Given the description of an element on the screen output the (x, y) to click on. 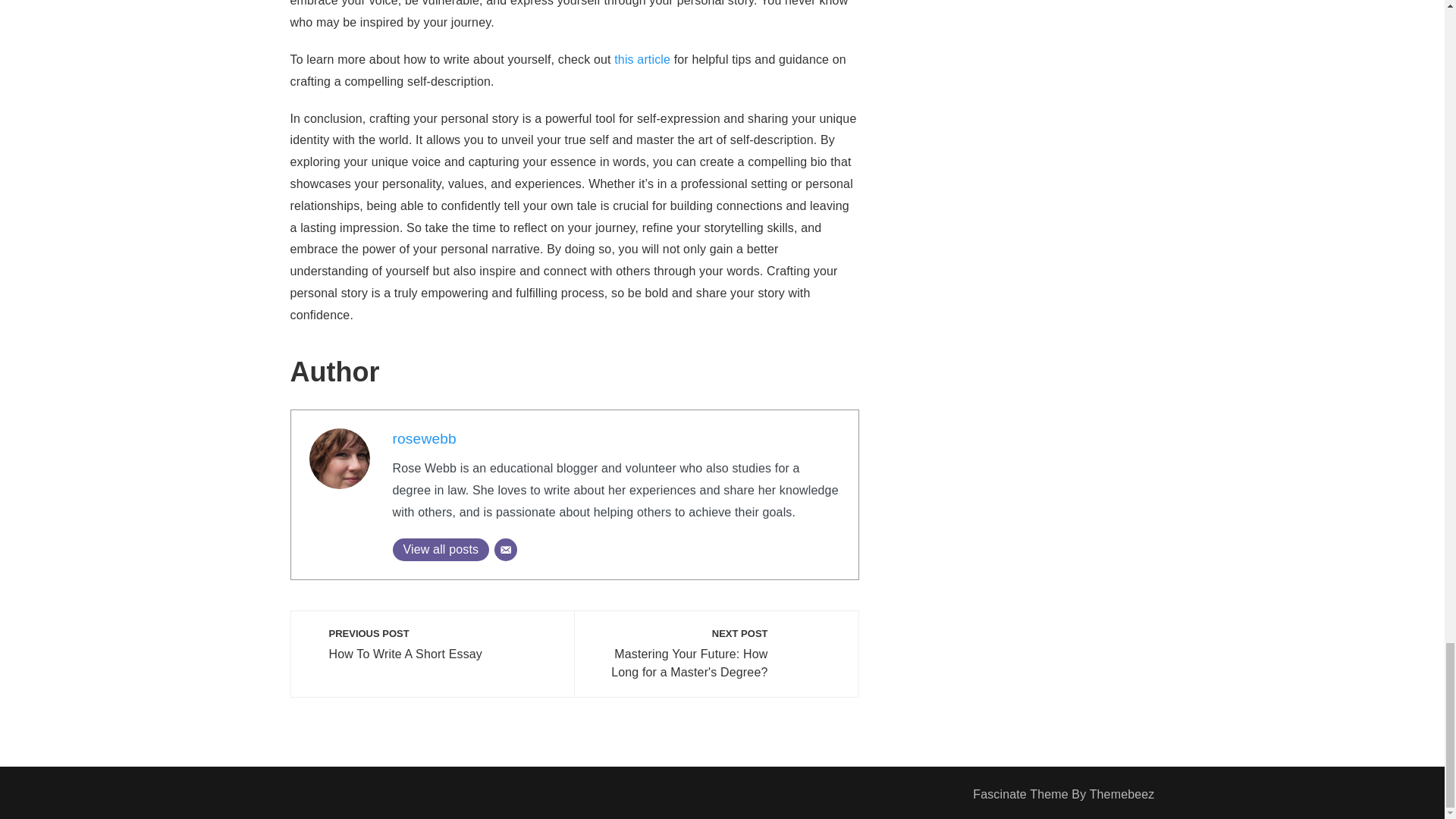
rosewebb (425, 438)
View all posts (432, 644)
View all posts (441, 549)
rosewebb (441, 549)
this article (425, 438)
